Given the description of an element on the screen output the (x, y) to click on. 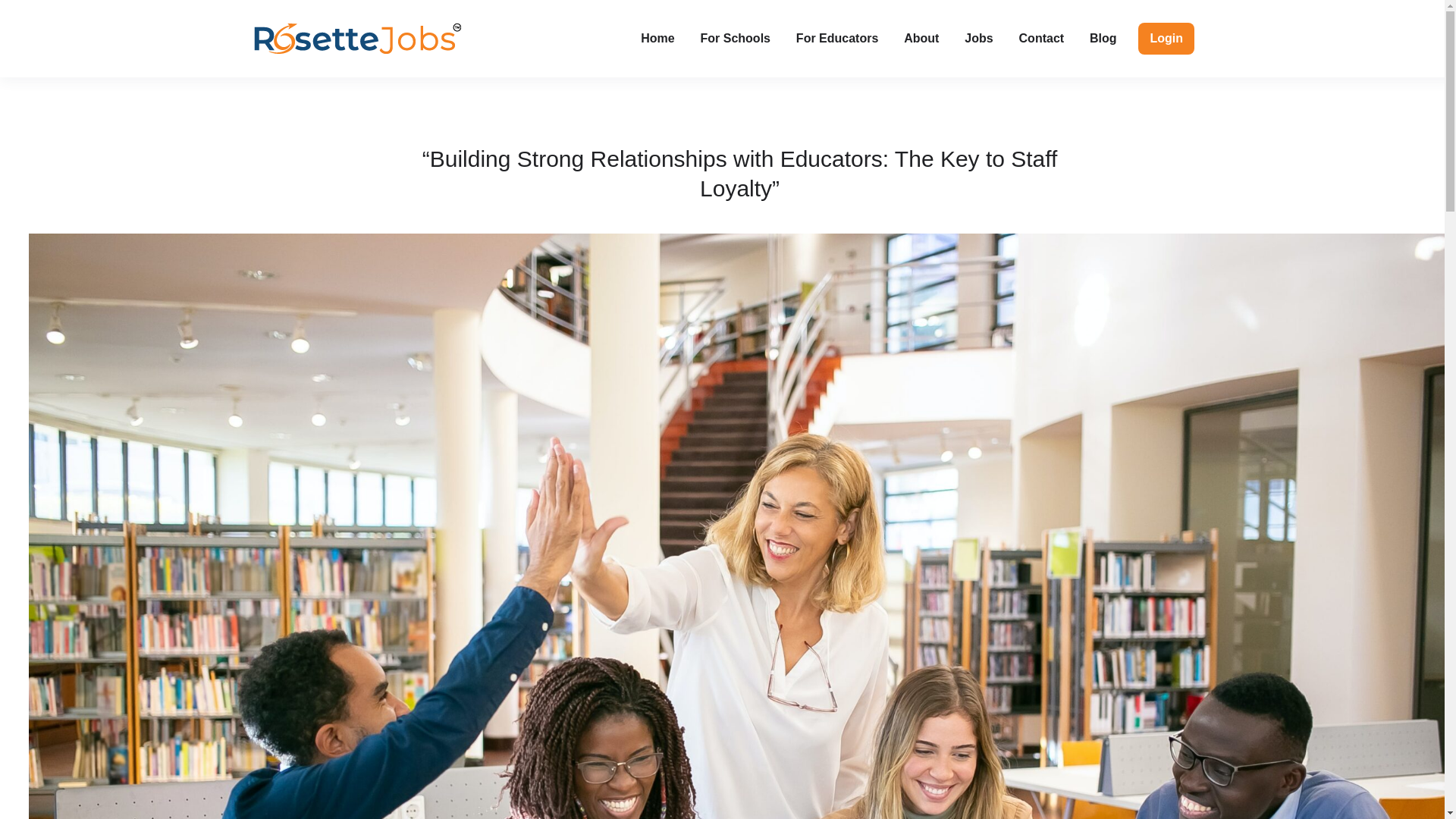
Home (656, 38)
For Educators (836, 38)
For Schools (734, 38)
About (921, 38)
Login (1165, 38)
Jobs (978, 38)
Blog (1103, 38)
logo-rosette-jobs (357, 38)
Contact (1041, 38)
